Given the description of an element on the screen output the (x, y) to click on. 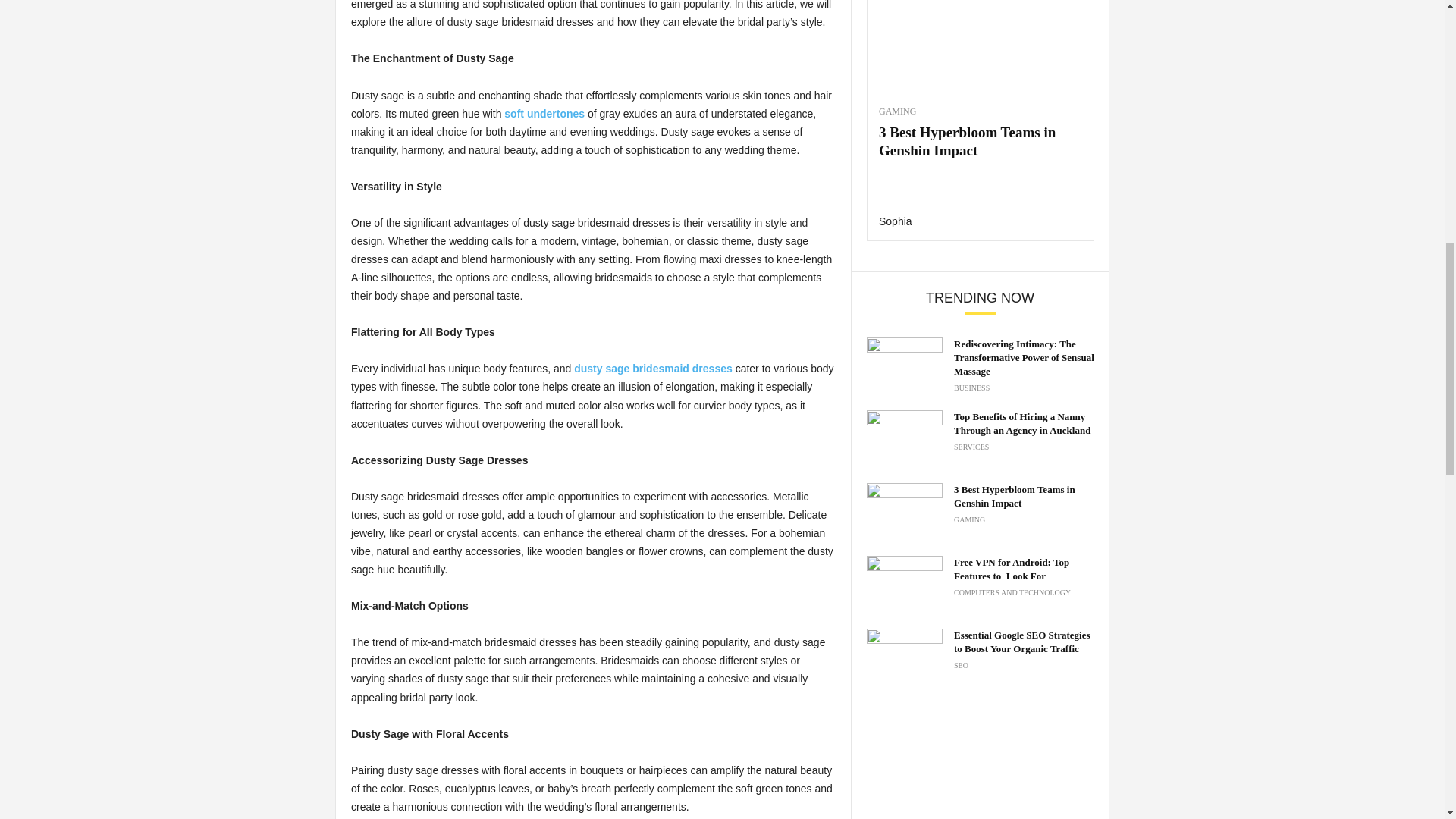
soft undertones (544, 113)
dusty sage bridesmaid dresses (652, 368)
